Given the description of an element on the screen output the (x, y) to click on. 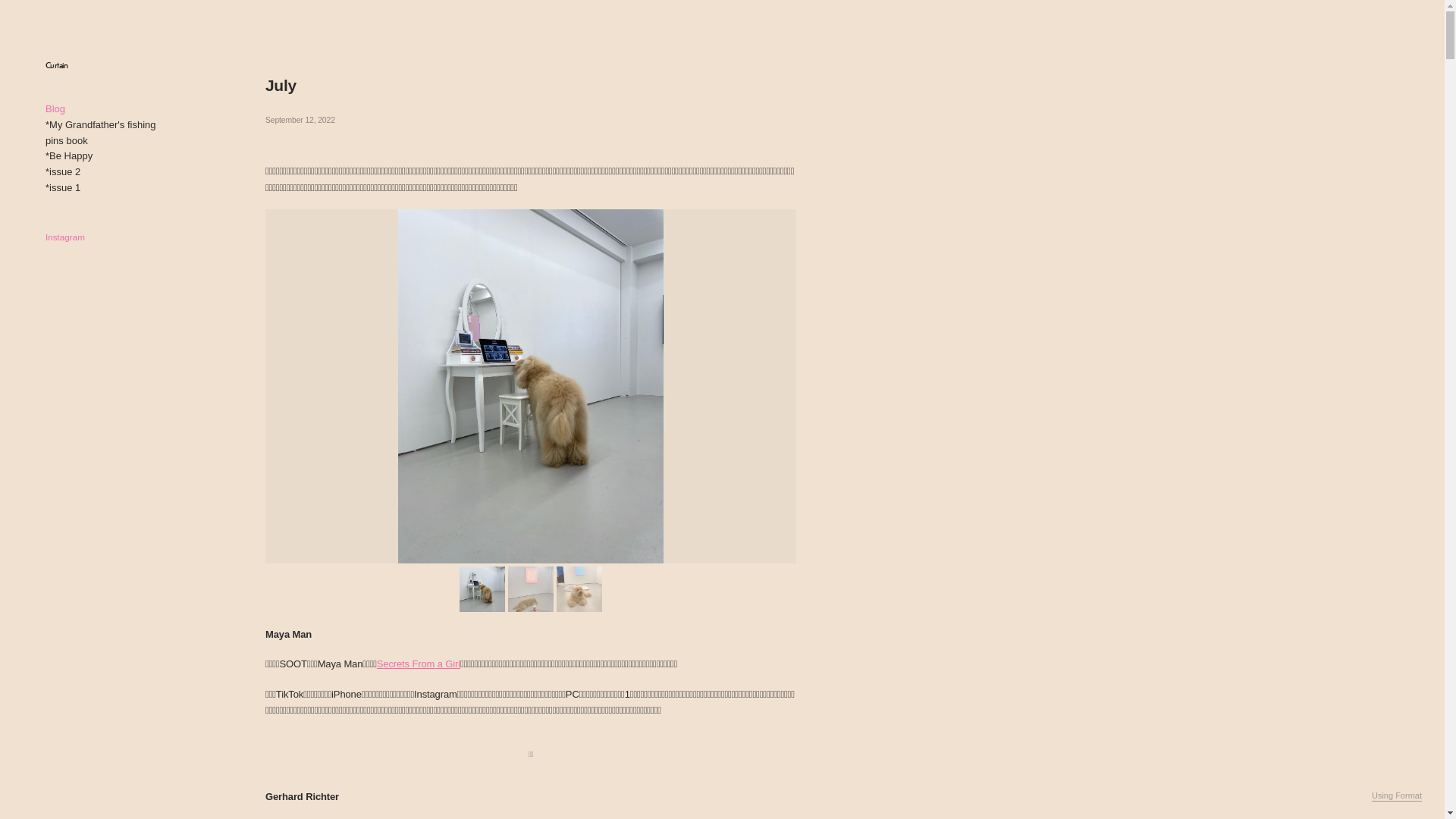
July Element type: text (280, 85)
*issue 2 Element type: text (62, 171)
Curtain Element type: text (56, 65)
Instagram Element type: text (64, 237)
Next Element type: text (530, 386)
*Be Happy Element type: text (68, 155)
Blog Element type: text (55, 108)
Secrets From a Girl Element type: text (418, 663)
September 12, 2022 Element type: text (530, 119)
*issue 1 Element type: text (62, 187)
Using Format Element type: text (1396, 795)
*My Grandfather's fishing pins book Element type: text (100, 132)
